Given the description of an element on the screen output the (x, y) to click on. 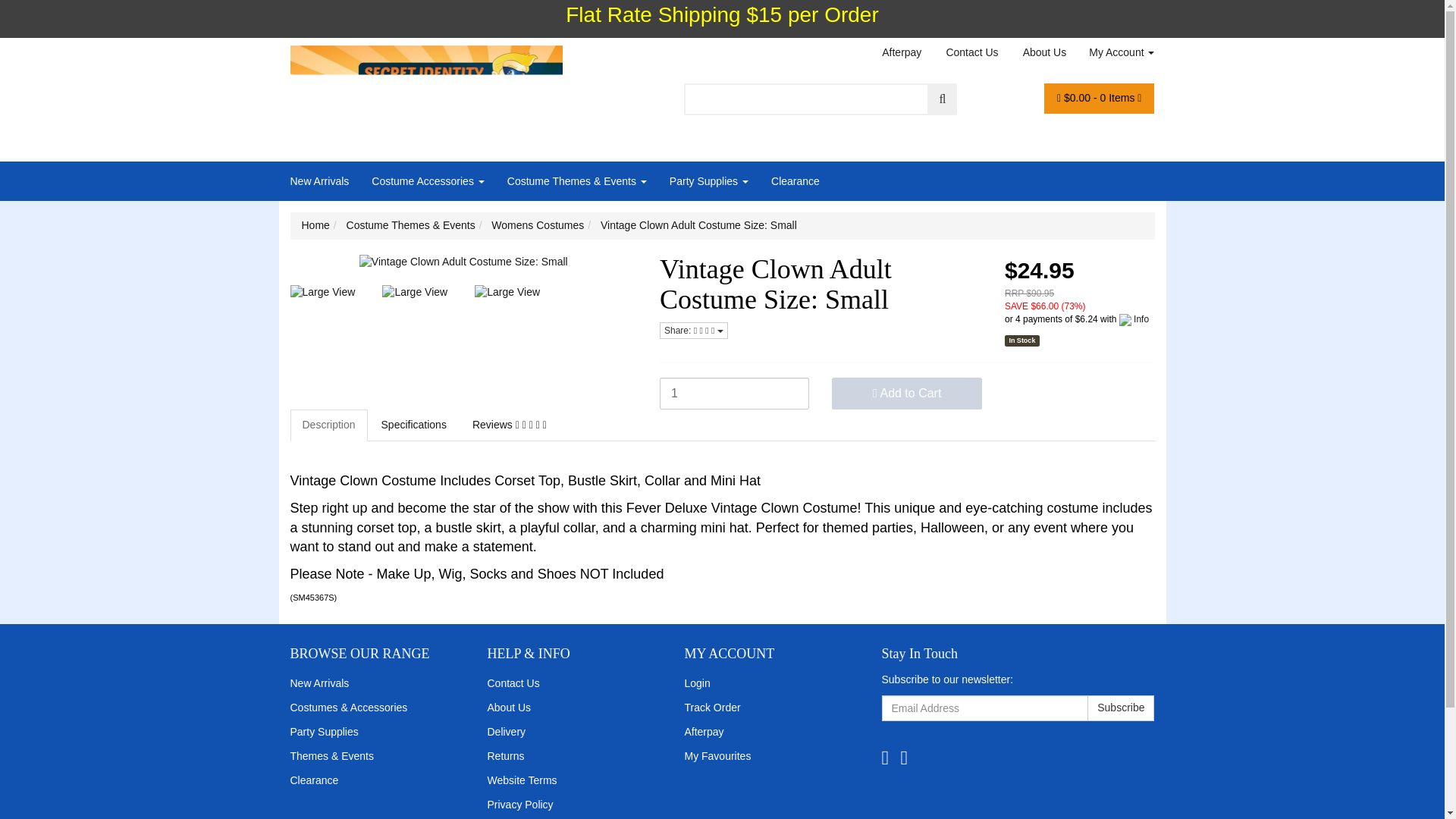
Afterpay (901, 52)
Costume Accessories (427, 180)
Subscribe (1120, 708)
My Account (1115, 52)
Contact Us (971, 52)
New Arrivals (324, 180)
Large View (416, 292)
About Us (1044, 52)
Search (943, 99)
Add Vintage Clown Adult Costume Size: Small to Cart (906, 393)
